Given the description of an element on the screen output the (x, y) to click on. 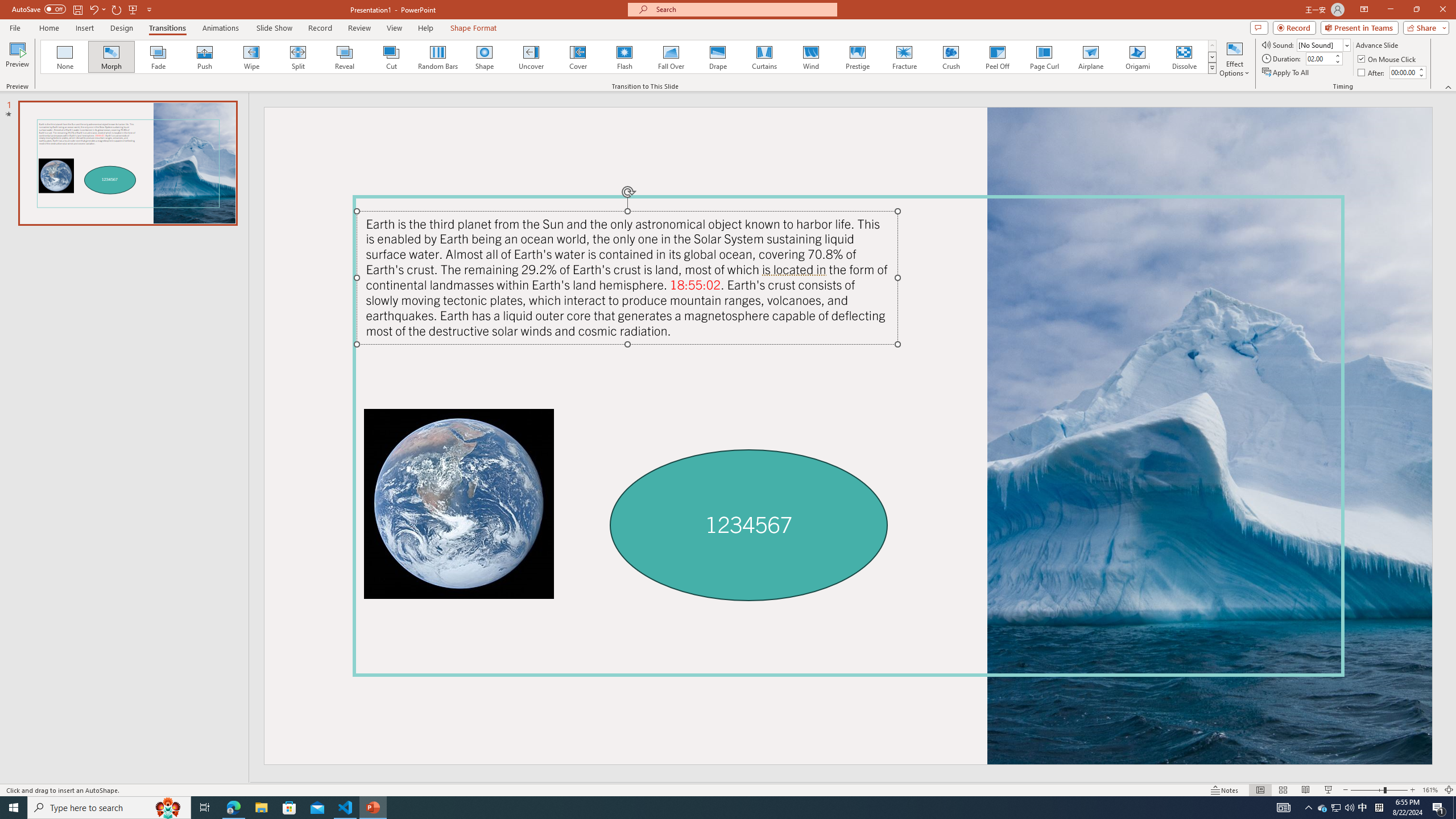
Page Curl (1043, 56)
Duration (1319, 58)
Curtains (764, 56)
Wind (810, 56)
